Given the description of an element on the screen output the (x, y) to click on. 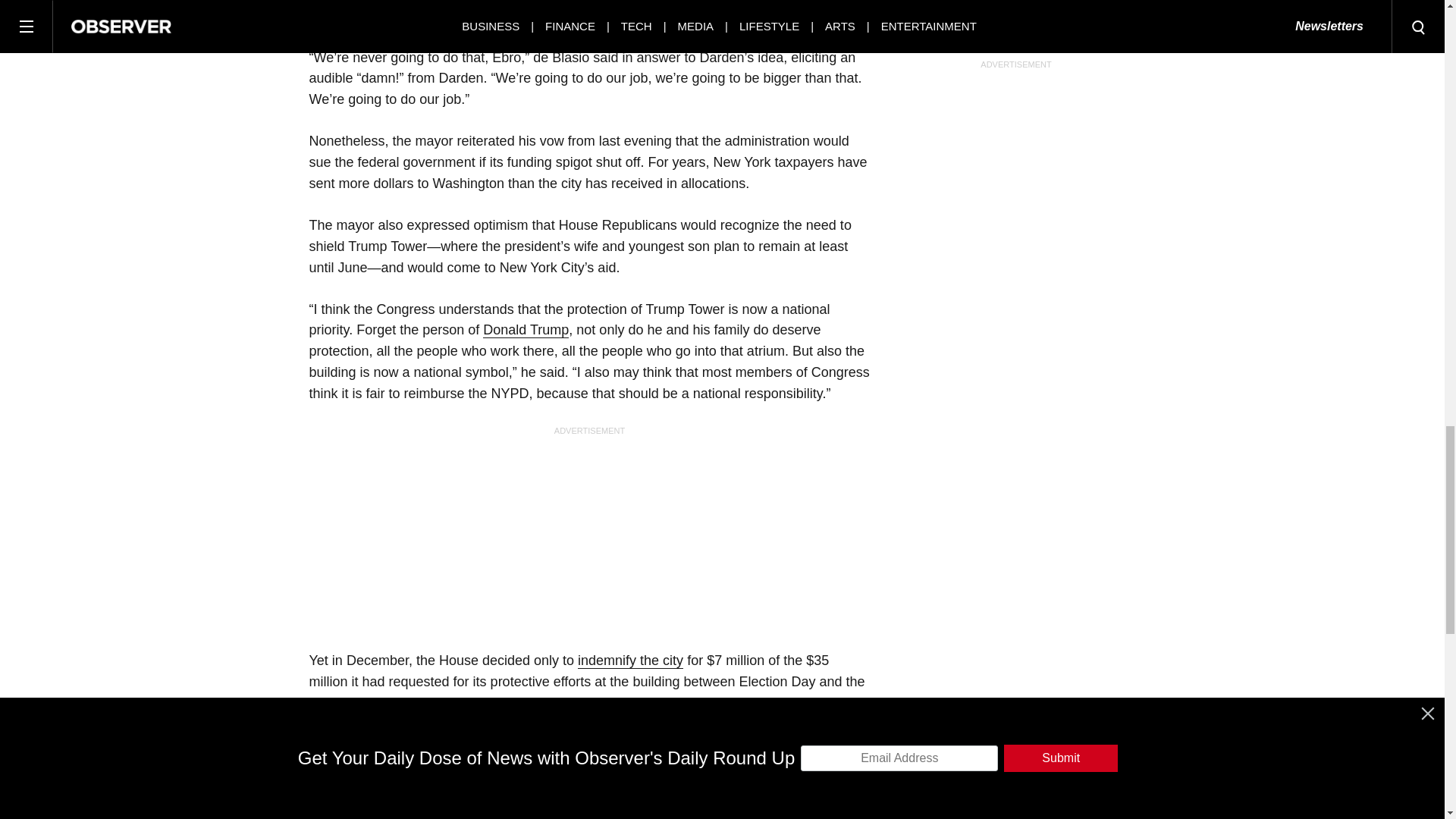
Donald Trump (526, 330)
